Given the description of an element on the screen output the (x, y) to click on. 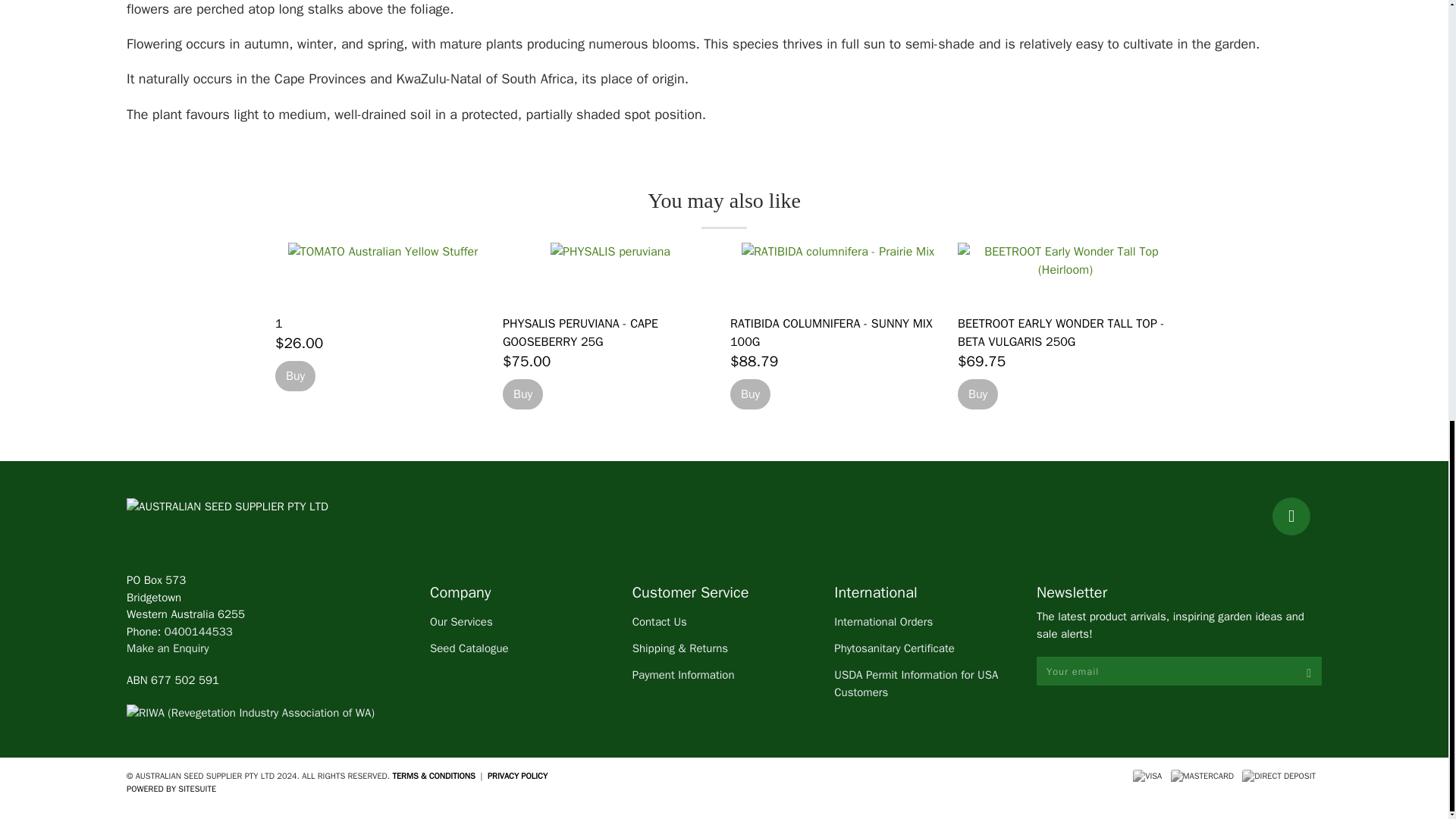
PHYSALIS peruviana - Cape Gooseberry 25g (580, 332)
BEETROOT Early Wonder Tall Top - Beta vulgaris 250g (1065, 272)
TOMATO Yellow Stuffer Heirloom - Lycopersicon esculentum 5g (382, 272)
RATIBIDA columnifera - Sunny Mix 100g (837, 272)
RATIBIDA columnifera - Sunny Mix 100g (831, 332)
PHYSALIS peruviana - Cape Gooseberry 25g (609, 272)
BEETROOT Early Wonder Tall Top - Beta vulgaris 250g (1060, 332)
facebook (1291, 516)
